Given the description of an element on the screen output the (x, y) to click on. 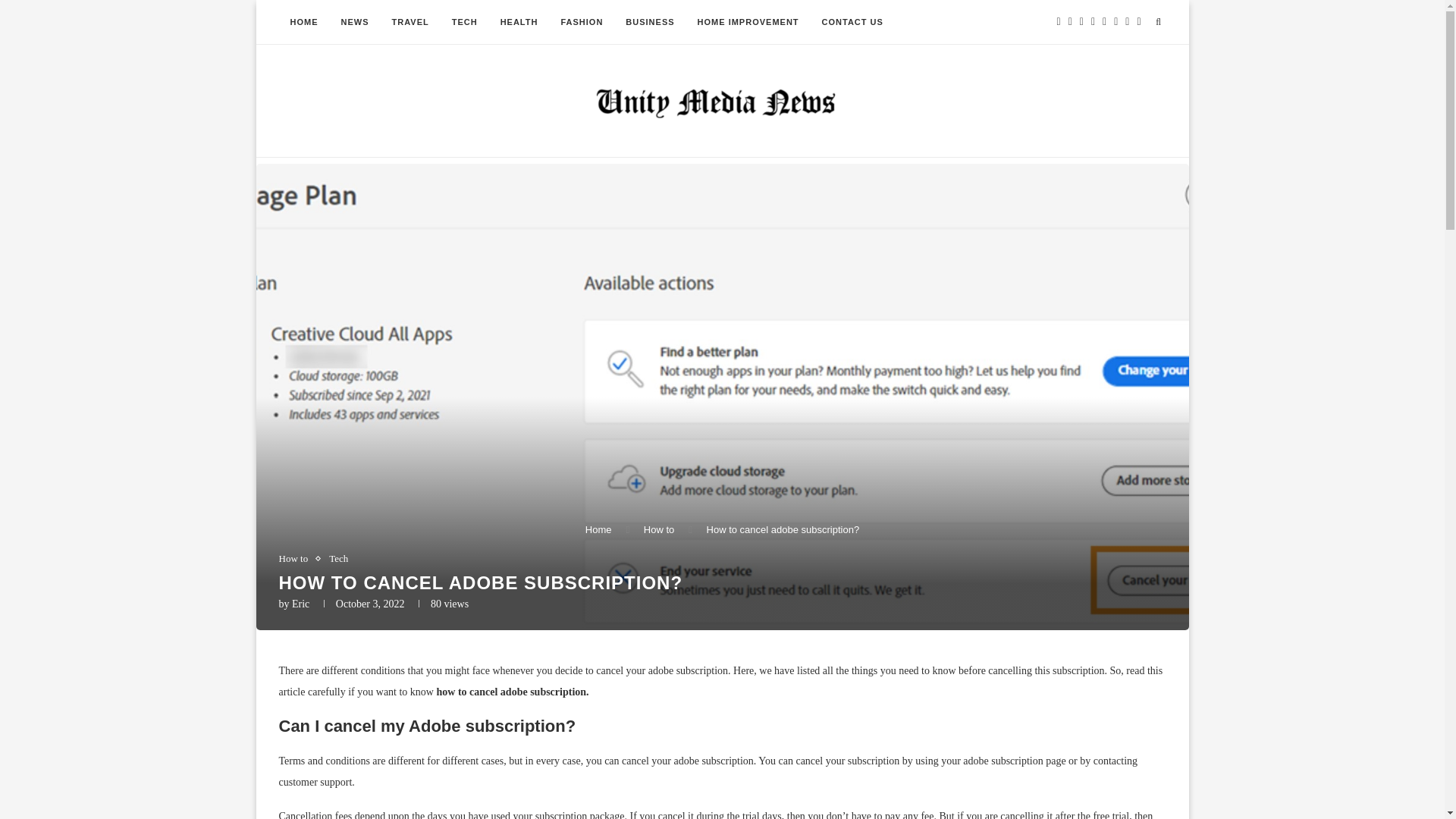
NEWS (354, 22)
TRAVEL (410, 22)
HEALTH (519, 22)
HOME (304, 22)
BUSINESS (649, 22)
HOME IMPROVEMENT (747, 22)
FASHION (581, 22)
Home (598, 529)
CONTACT US (852, 22)
TECH (465, 22)
